Given the description of an element on the screen output the (x, y) to click on. 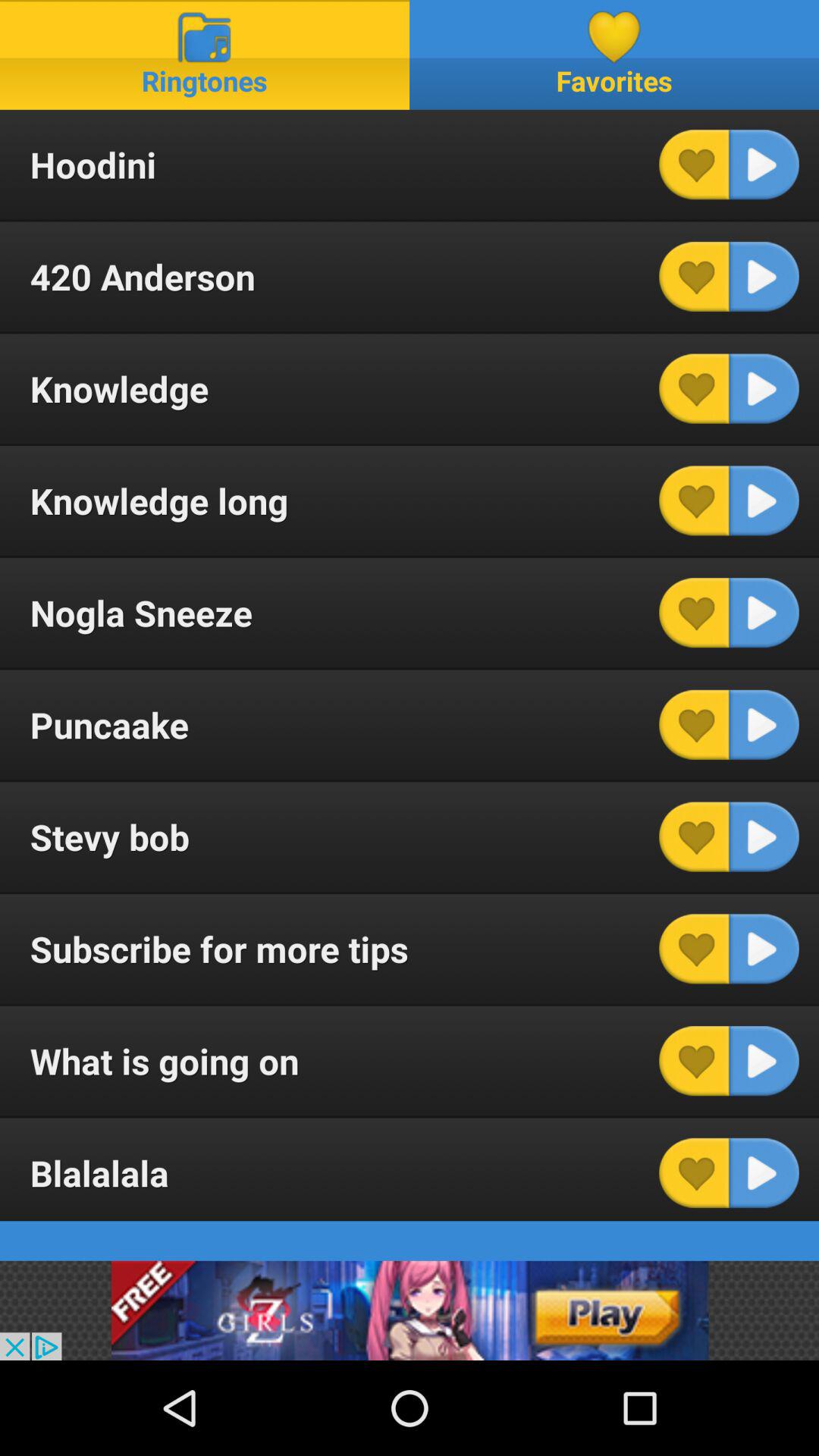
put stevybob ringtone in favorite (694, 836)
